Given the description of an element on the screen output the (x, y) to click on. 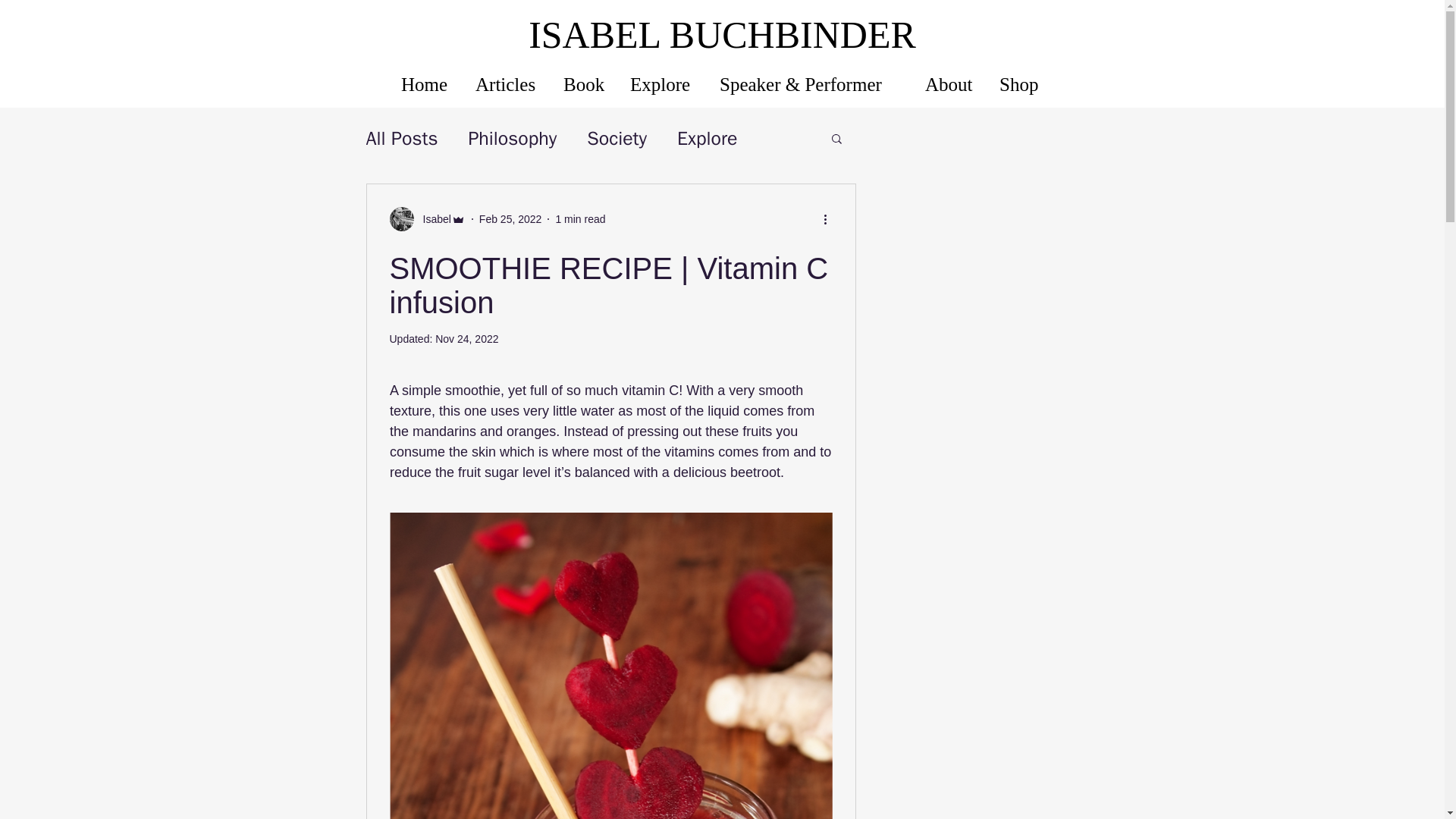
About (951, 84)
Home (427, 84)
Feb 25, 2022 (510, 218)
Articles (507, 84)
Philosophy (511, 138)
Explore (706, 138)
Shop (1021, 84)
Isabel  (432, 218)
Society (616, 138)
1 min read (579, 218)
